Given the description of an element on the screen output the (x, y) to click on. 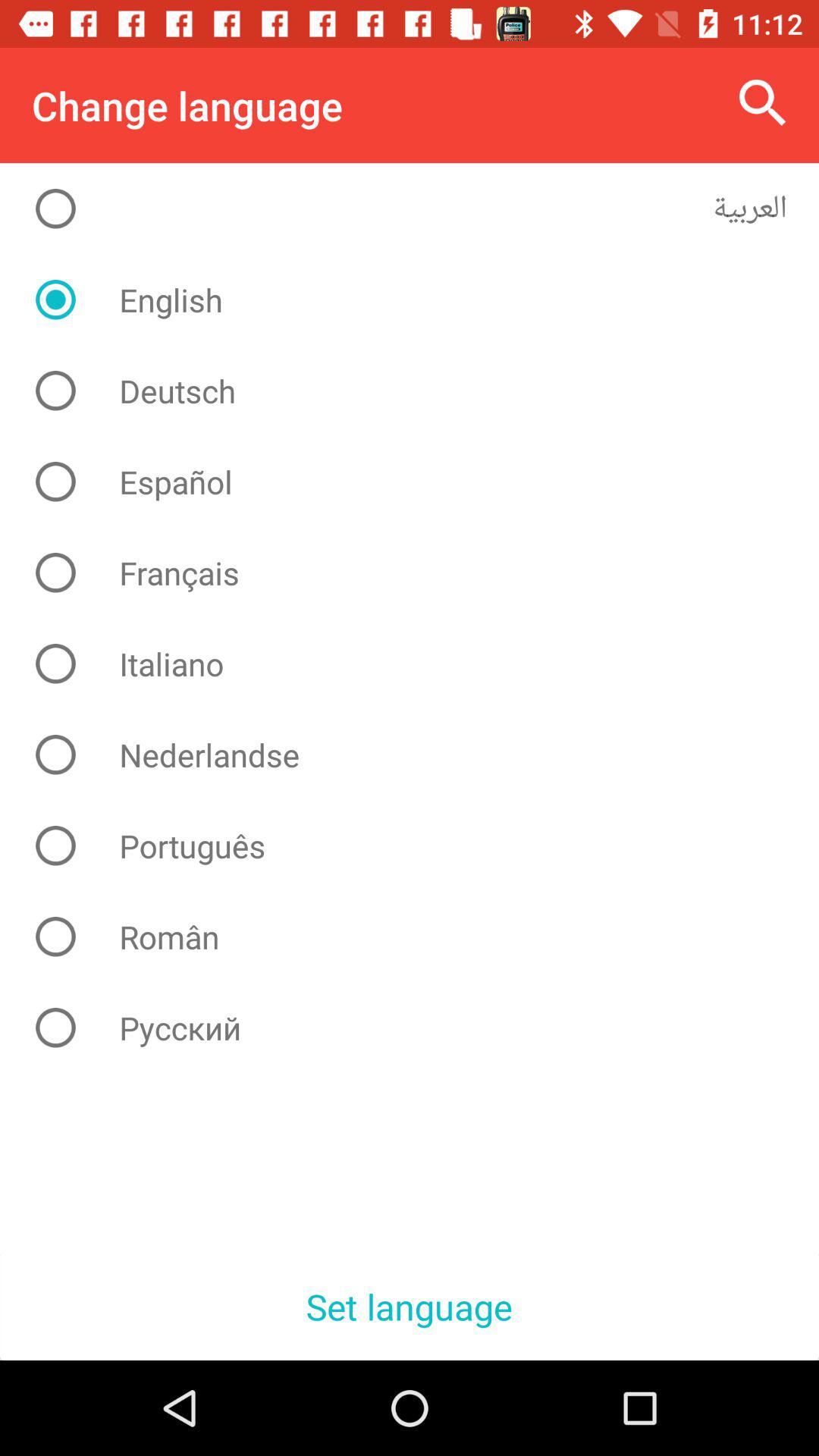
flip until italiano icon (421, 663)
